Given the description of an element on the screen output the (x, y) to click on. 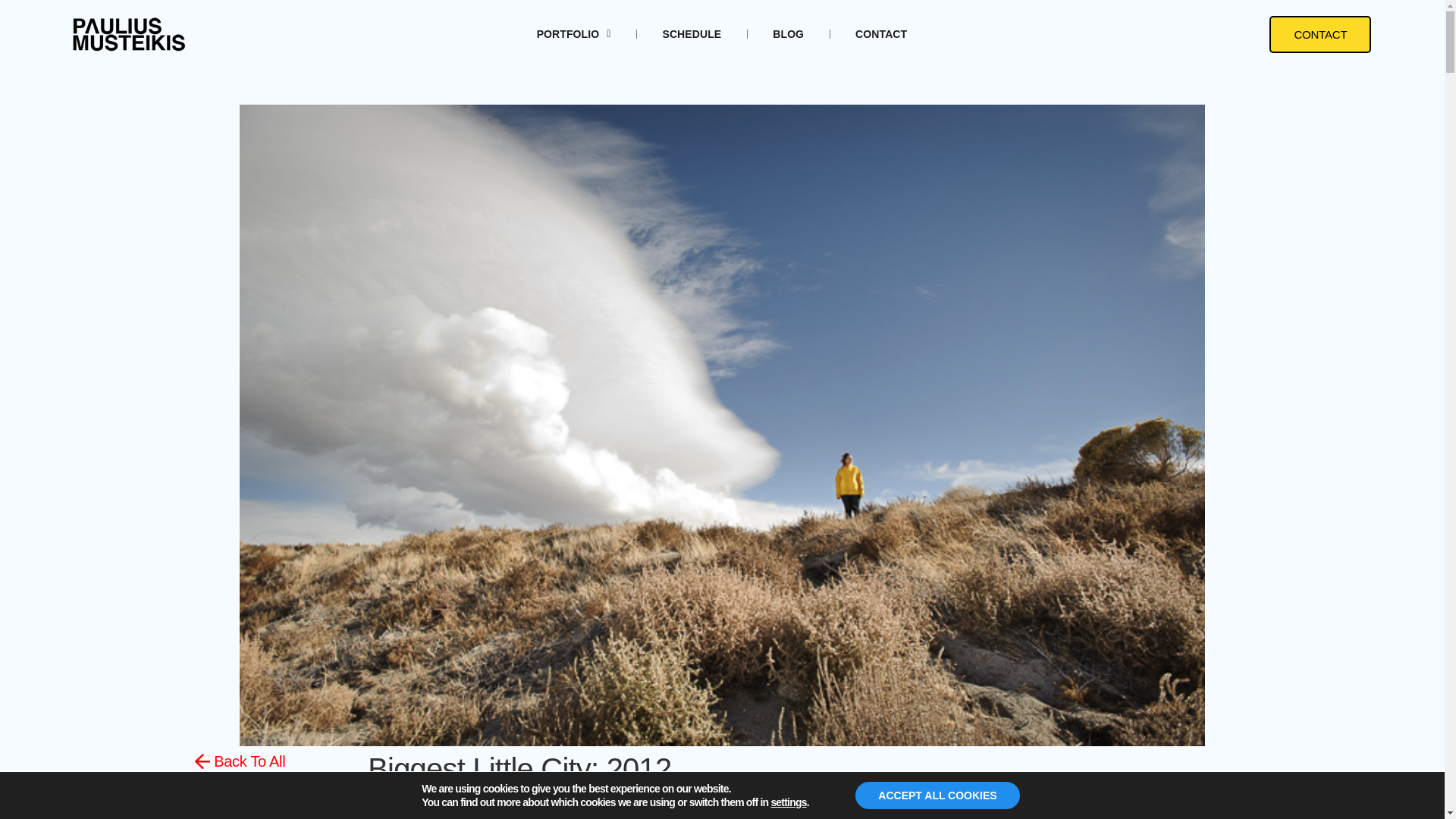
PORTFOLIO (573, 33)
Back To All (240, 762)
BLOG (787, 33)
CONTACT (1320, 33)
CONTACT (880, 33)
SCHEDULE (691, 33)
